Given the description of an element on the screen output the (x, y) to click on. 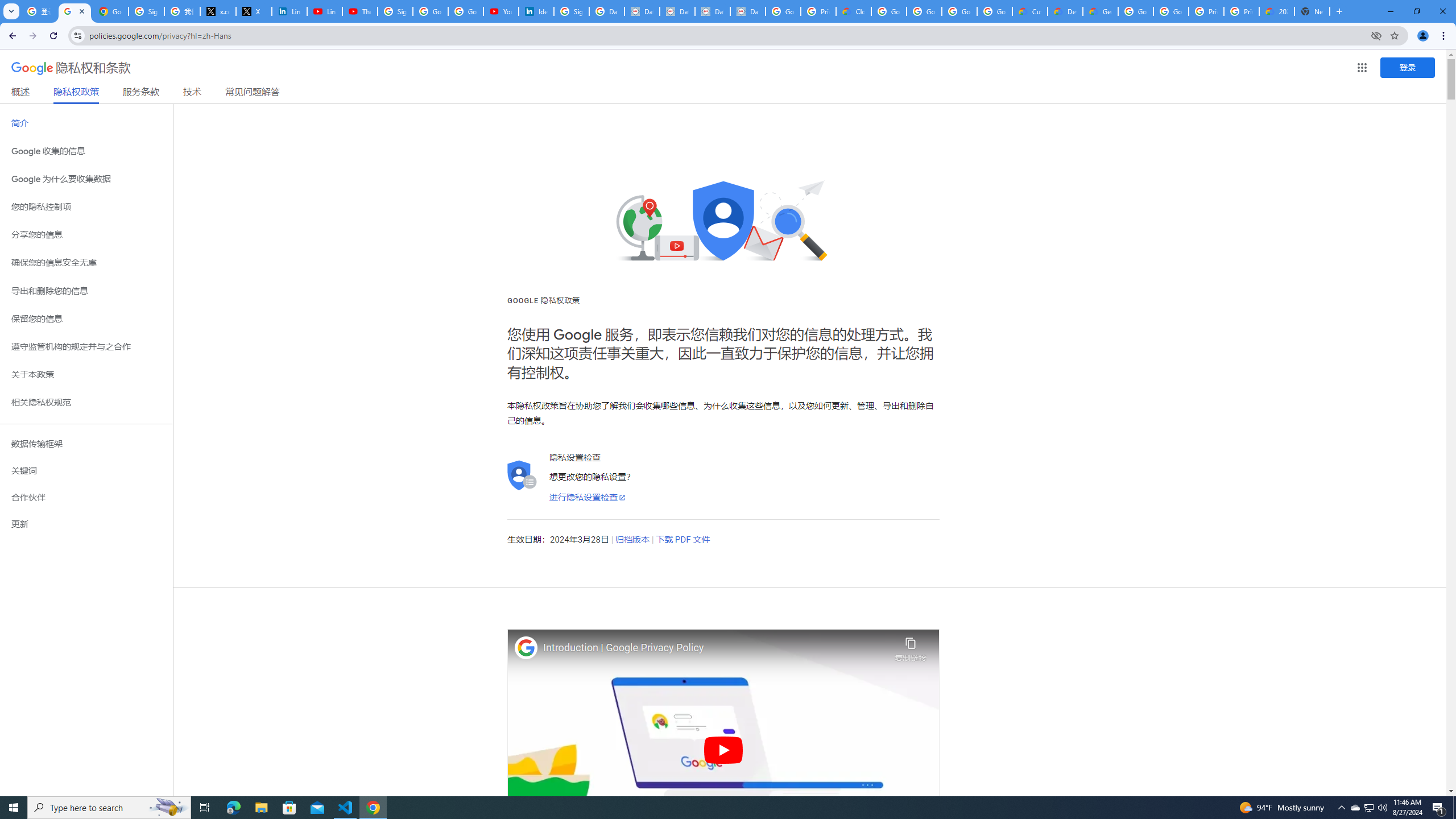
LinkedIn Privacy Policy (288, 11)
X (253, 11)
Google Workspace - Specific Terms (994, 11)
New Tab (1312, 11)
